Given the description of an element on the screen output the (x, y) to click on. 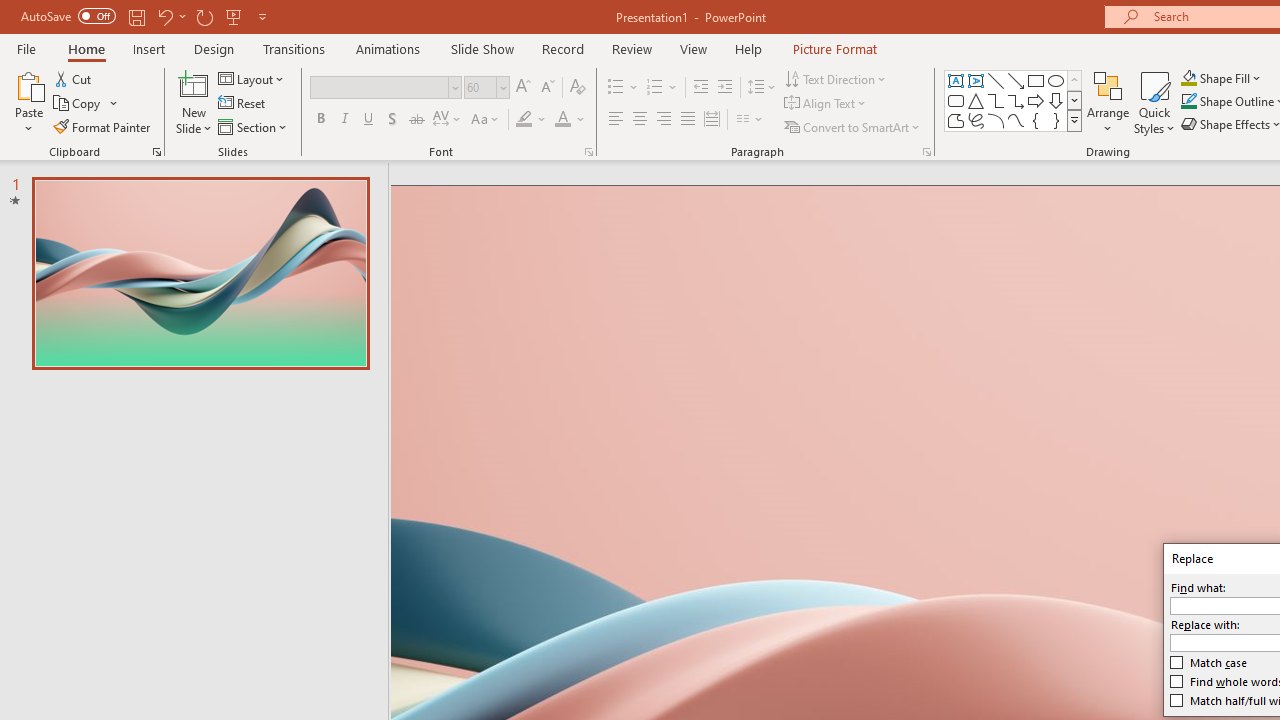
Match case (1209, 663)
